Given the description of an element on the screen output the (x, y) to click on. 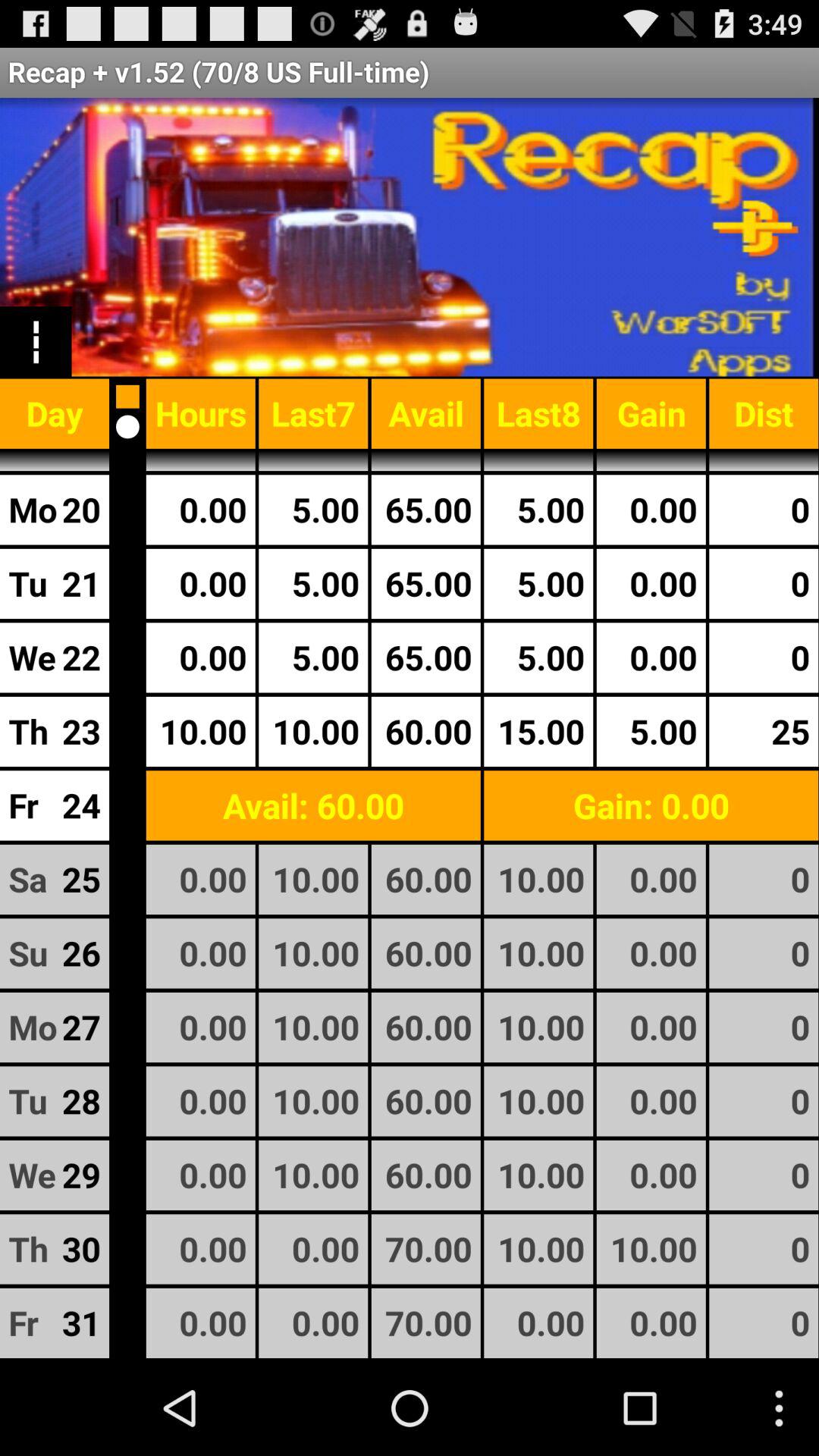
space increment or close option (127, 426)
